Given the description of an element on the screen output the (x, y) to click on. 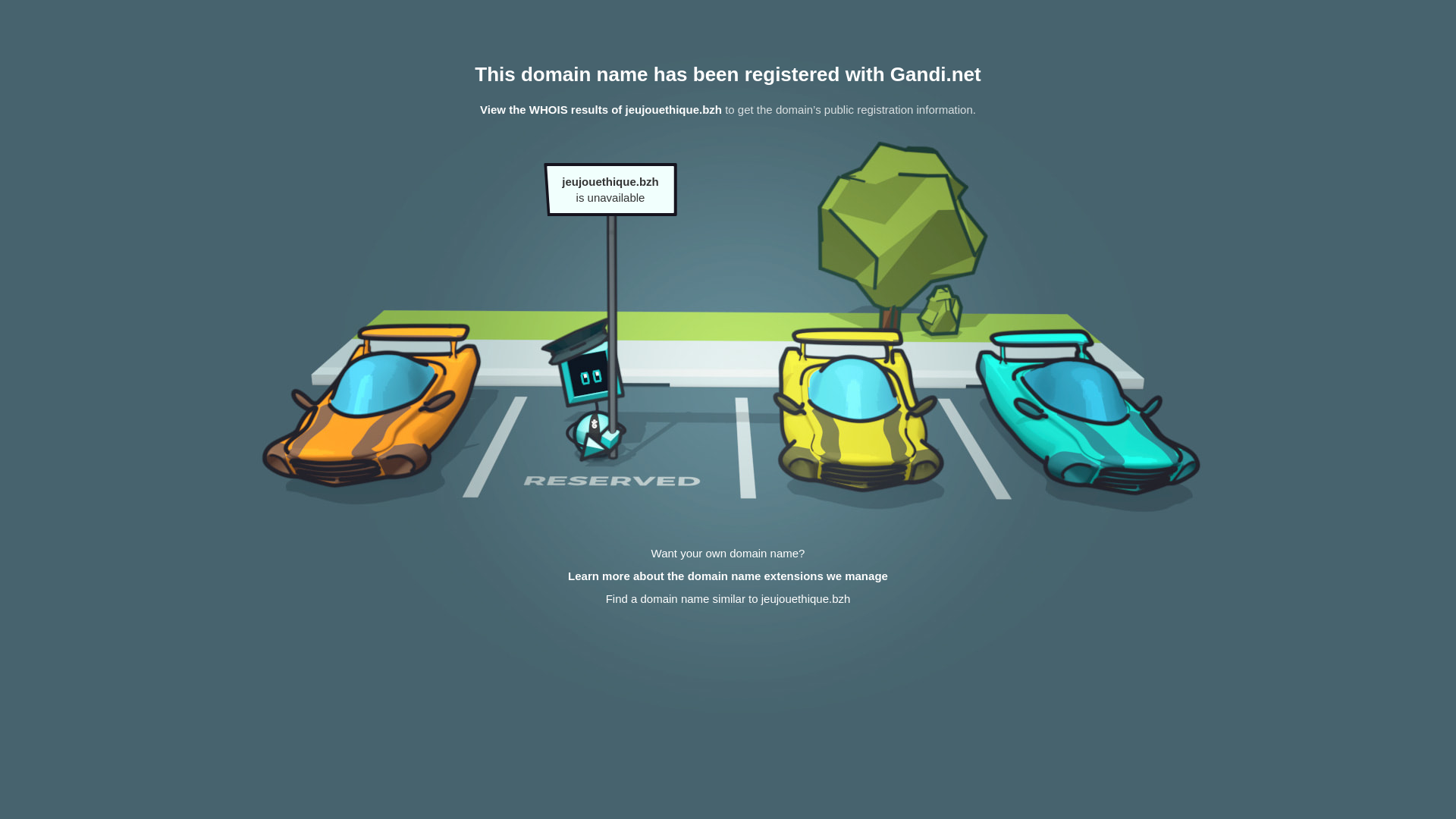
Find a domain name similar to jeujouethique.bzh Element type: text (727, 598)
Learn more about the domain name extensions we manage Element type: text (727, 575)
View the WHOIS results of jeujouethique.bzh Element type: text (600, 109)
